Given the description of an element on the screen output the (x, y) to click on. 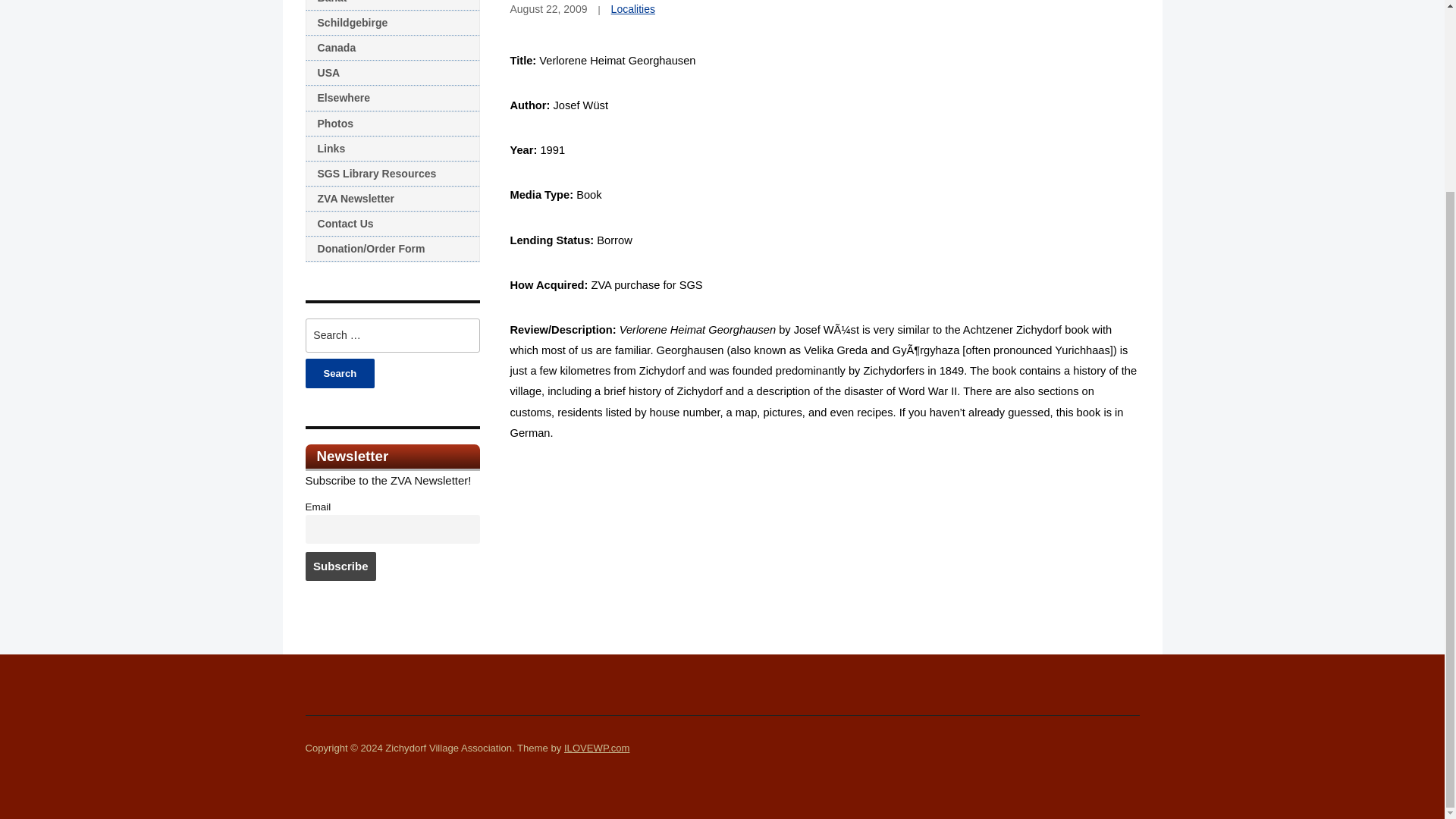
Links (391, 148)
Banat (391, 5)
Canada (391, 48)
Schildgebirge (391, 23)
Search (339, 373)
Subscribe (339, 566)
Elsewhere (391, 97)
Contact Us (391, 223)
SGS Library Resources (391, 173)
USA (391, 72)
